Given the description of an element on the screen output the (x, y) to click on. 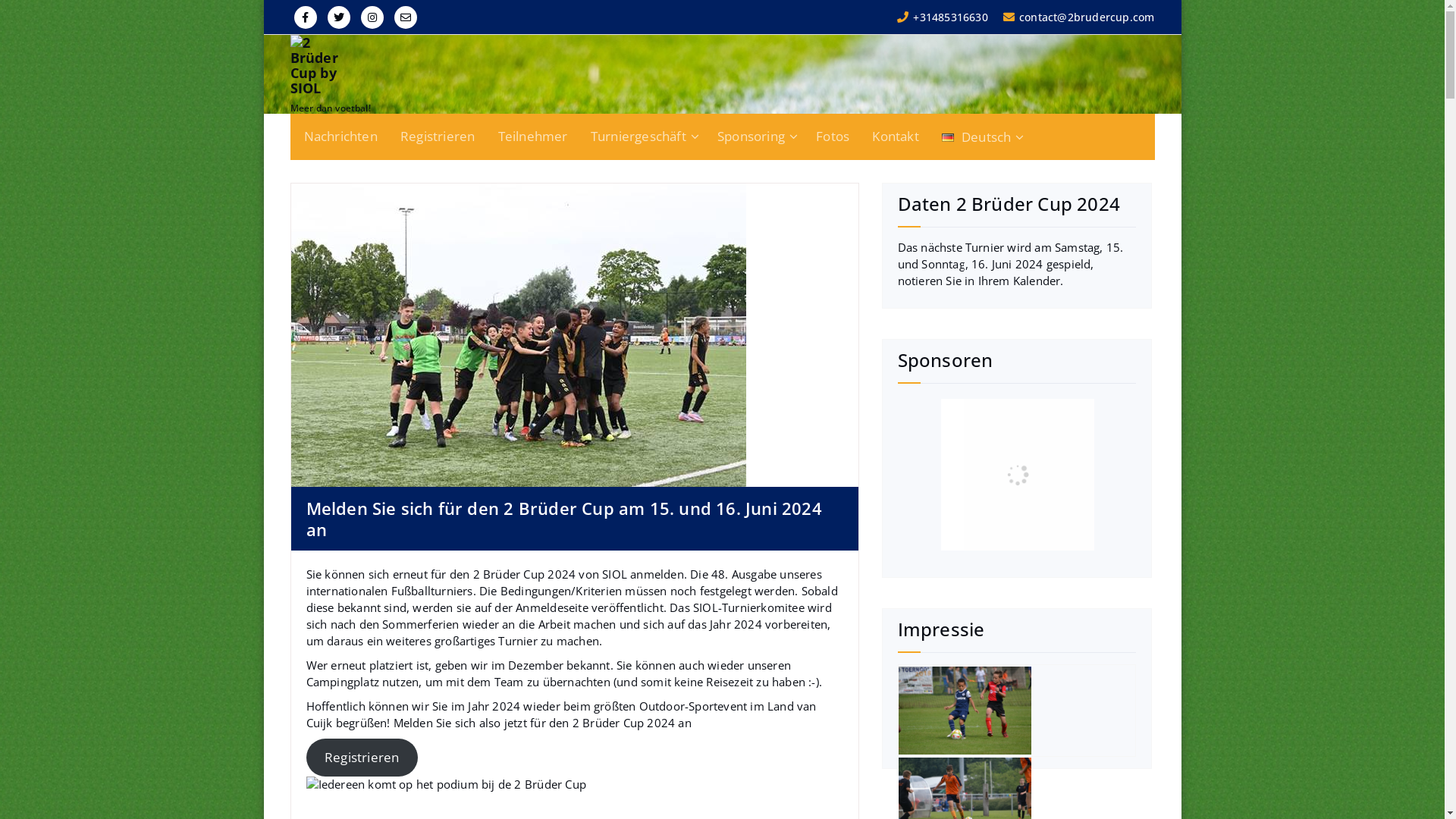
Kontakt Element type: text (894, 136)
contact@2brudercup.com Element type: text (1078, 17)
Teilnehmer Element type: text (532, 136)
Fotos Element type: text (832, 136)
Deutsch Element type: text (980, 137)
Registrieren Element type: text (361, 757)
+31485316630 Element type: text (942, 17)
Registrieren Element type: text (437, 136)
Sponsoring Element type: text (754, 136)
SIOL Element type: text (614, 573)
Nachrichten Element type: text (339, 136)
